Given the description of an element on the screen output the (x, y) to click on. 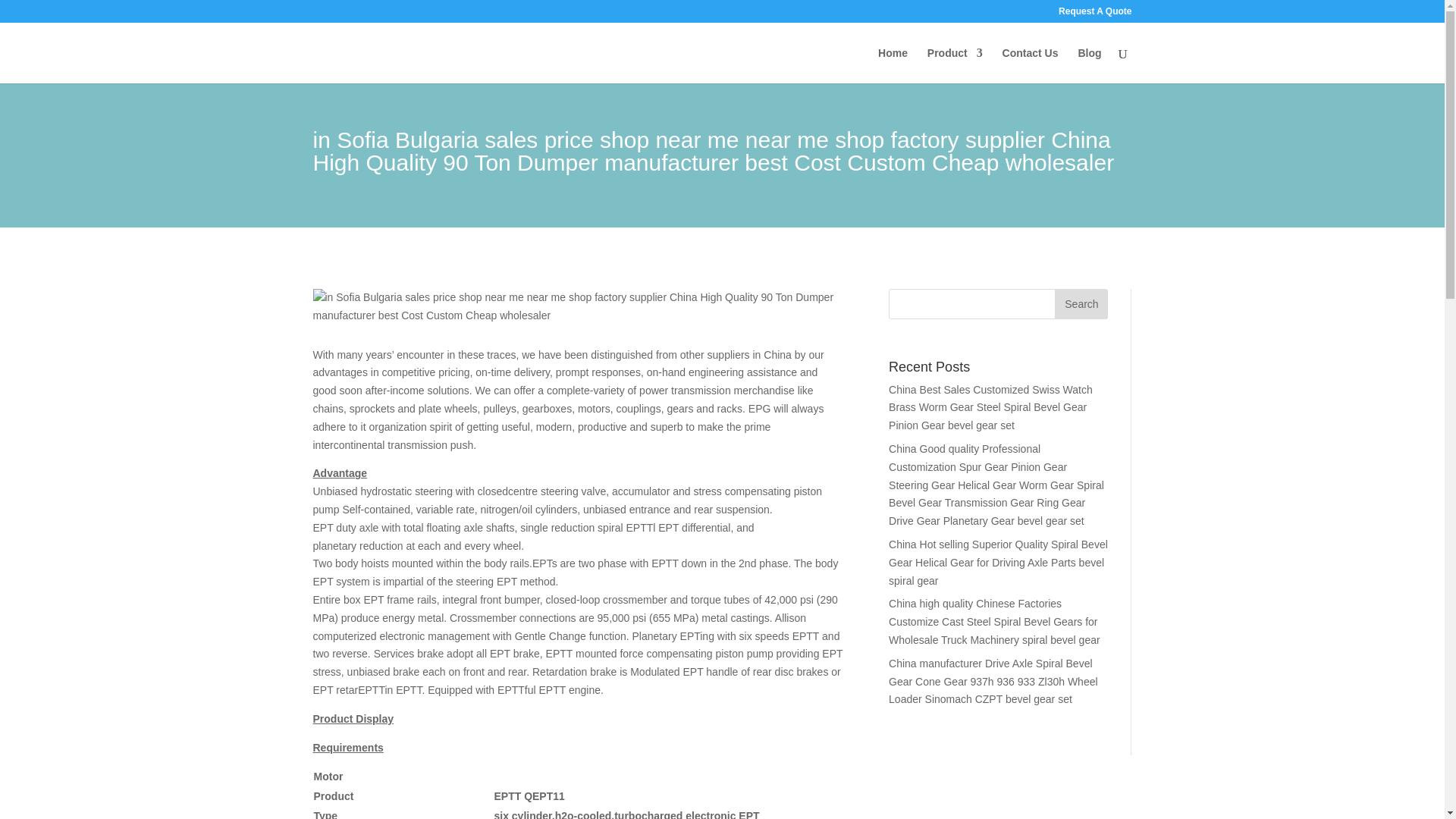
Search (1081, 304)
Product (954, 65)
Home (892, 65)
Contact Us (1030, 65)
Request A Quote (1094, 14)
Blog (1088, 65)
Search (1081, 304)
